Given the description of an element on the screen output the (x, y) to click on. 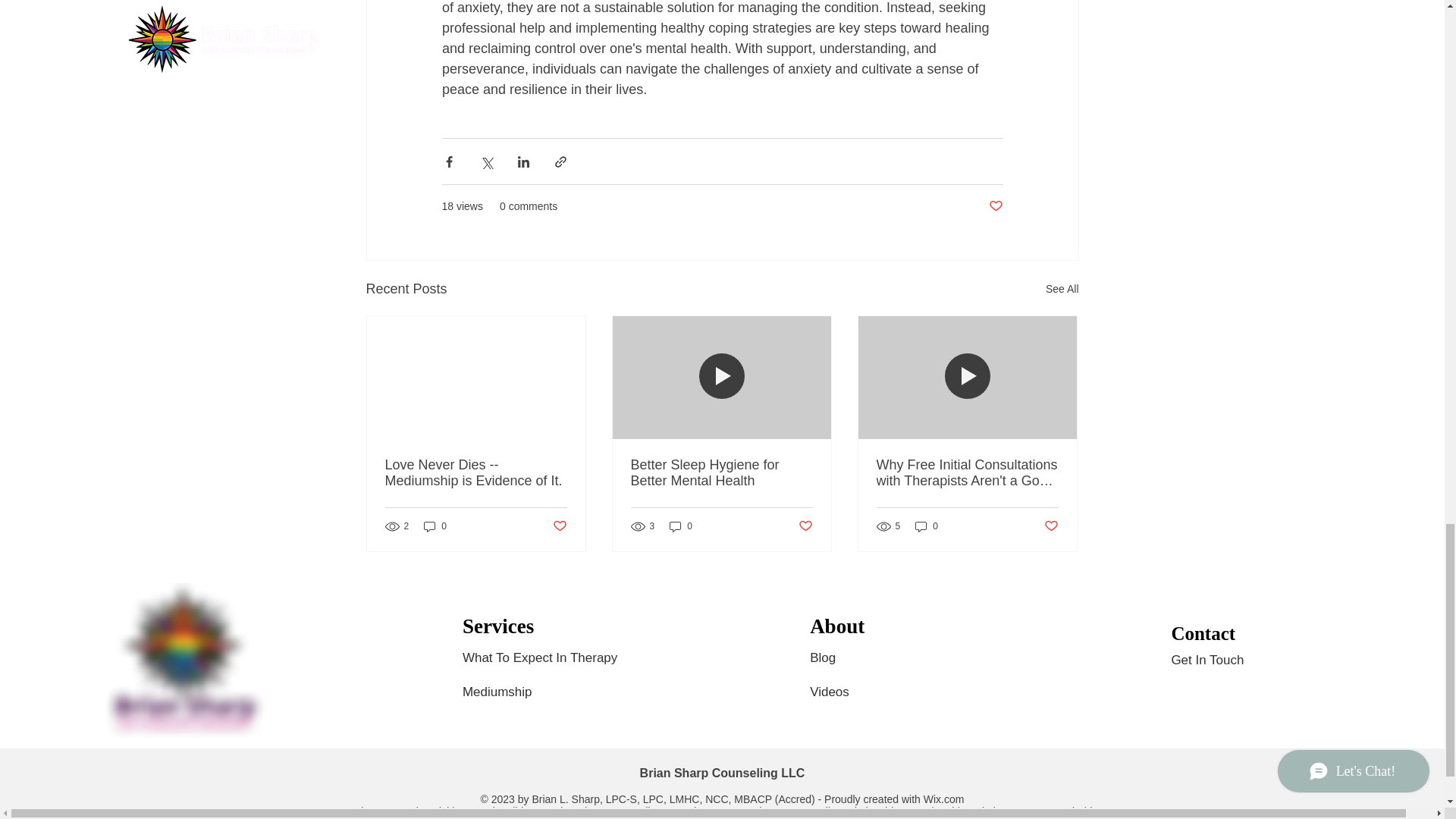
0 (681, 526)
Better Sleep Hygiene for Better Mental Health (721, 472)
Love Never Dies -- Mediumship is Evidence of It. (476, 472)
See All (1061, 289)
What To Expect In Therapy (551, 657)
Get In Touch (1206, 660)
Post not marked as liked (1050, 526)
Post not marked as liked (558, 526)
Post not marked as liked (804, 526)
Videos (841, 692)
Post not marked as liked (995, 206)
0 (435, 526)
Mediumship (505, 692)
Blog (824, 657)
